Given the description of an element on the screen output the (x, y) to click on. 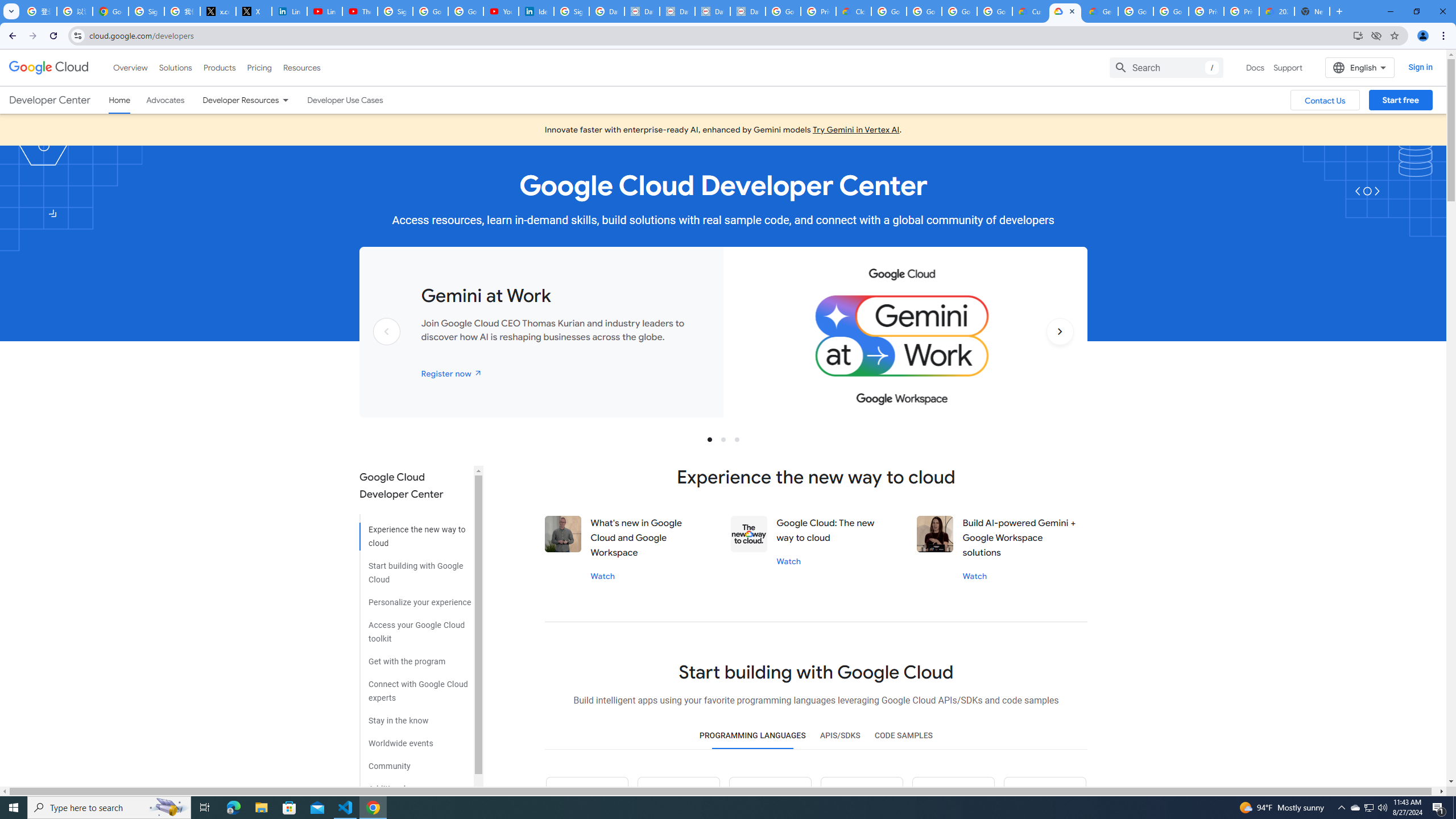
Data Privacy Framework (747, 11)
Get with the program (415, 657)
Google Cloud Platform (1170, 11)
Support (1288, 67)
Cloud Data Processing Addendum | Google Cloud (853, 11)
Gemini for Business and Developers | Google Cloud (1099, 11)
Python icon (587, 798)
Developer Use Cases (344, 99)
Access your Google Cloud toolkit (415, 627)
CPP icon (1044, 798)
